Given the description of an element on the screen output the (x, y) to click on. 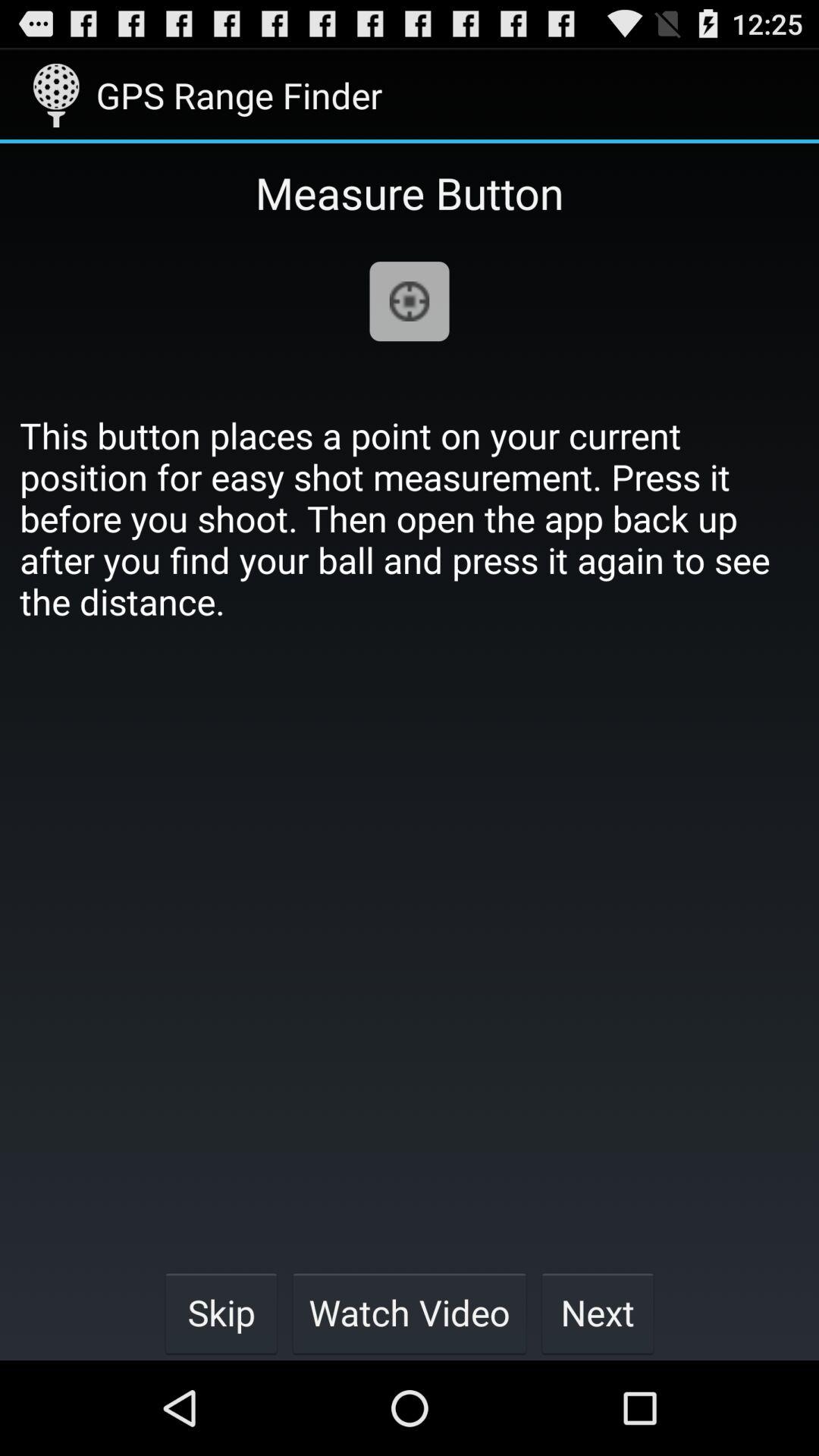
press the button to the right of the skip button (409, 1312)
